Given the description of an element on the screen output the (x, y) to click on. 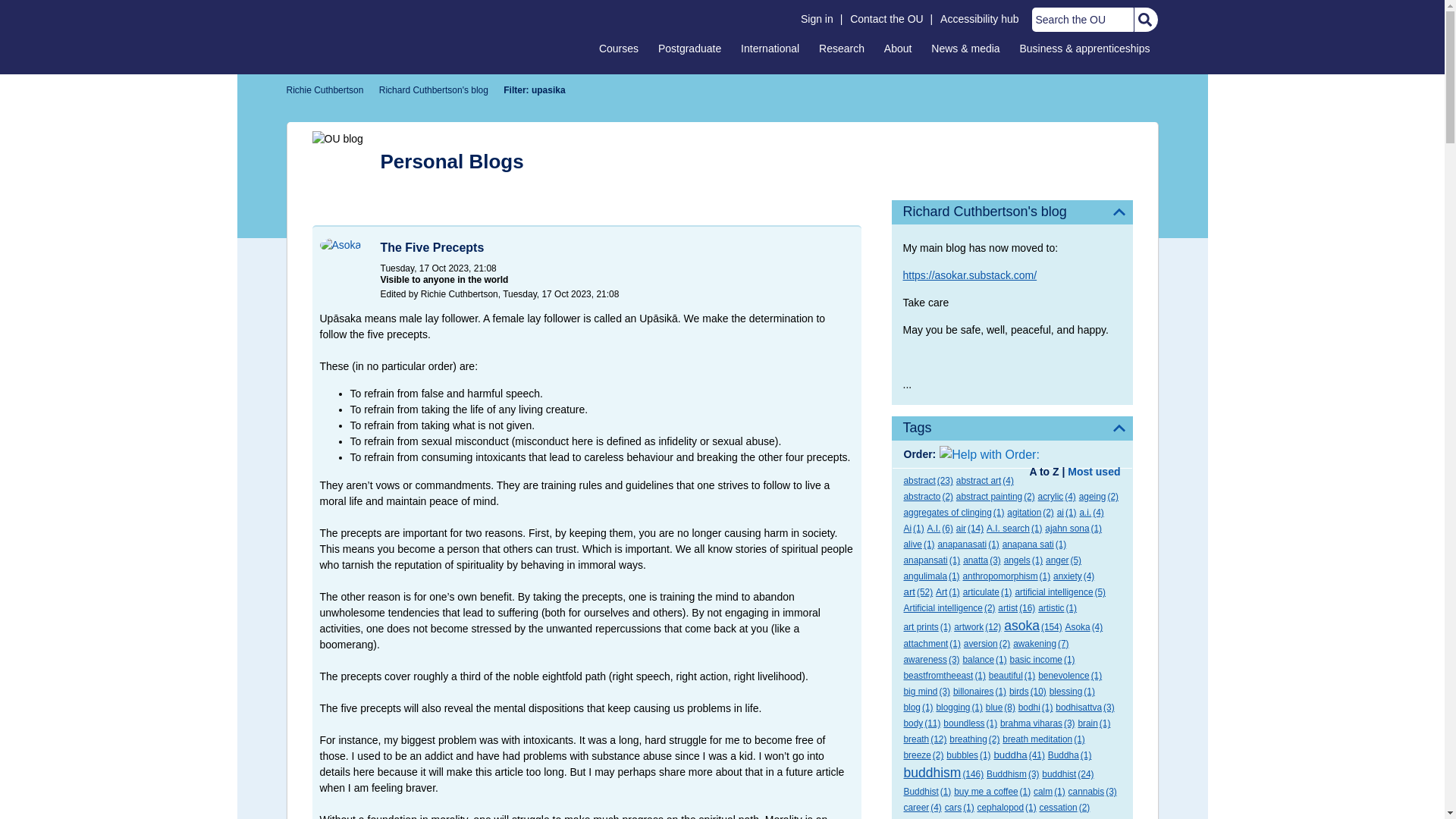
Postgraduate (689, 48)
Courses (618, 48)
Tags (1011, 428)
Accessibility hub (979, 19)
About (898, 48)
Contact the OU (886, 19)
Search (1144, 19)
Search (1144, 19)
The Open University (354, 36)
International (770, 48)
Richard Cuthbertson's blog (432, 90)
Richie Cuthbertson (325, 90)
